Given the description of an element on the screen output the (x, y) to click on. 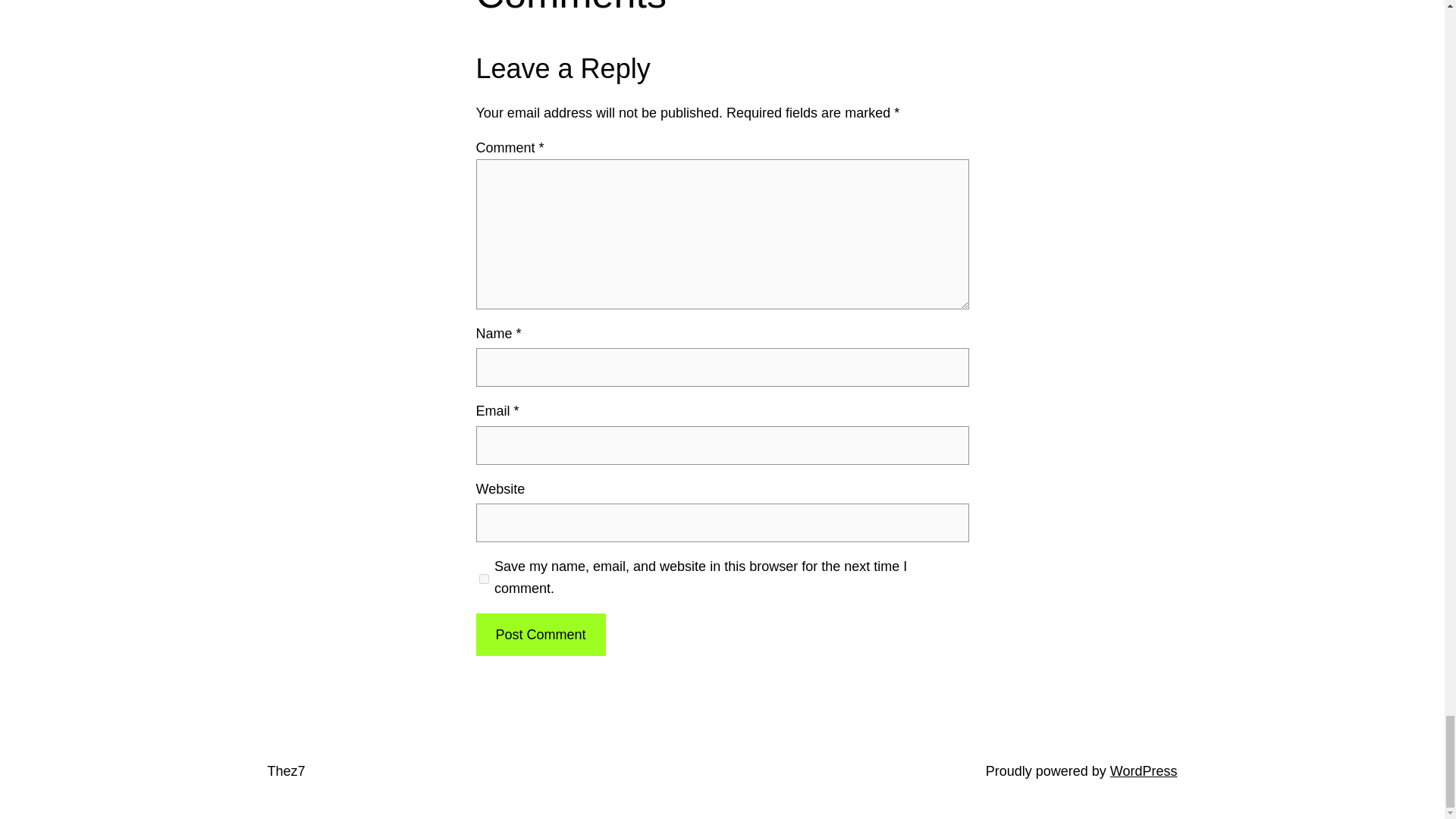
Post Comment (540, 634)
Post Comment (540, 634)
WordPress (1143, 770)
Thez7 (285, 770)
